Given the description of an element on the screen output the (x, y) to click on. 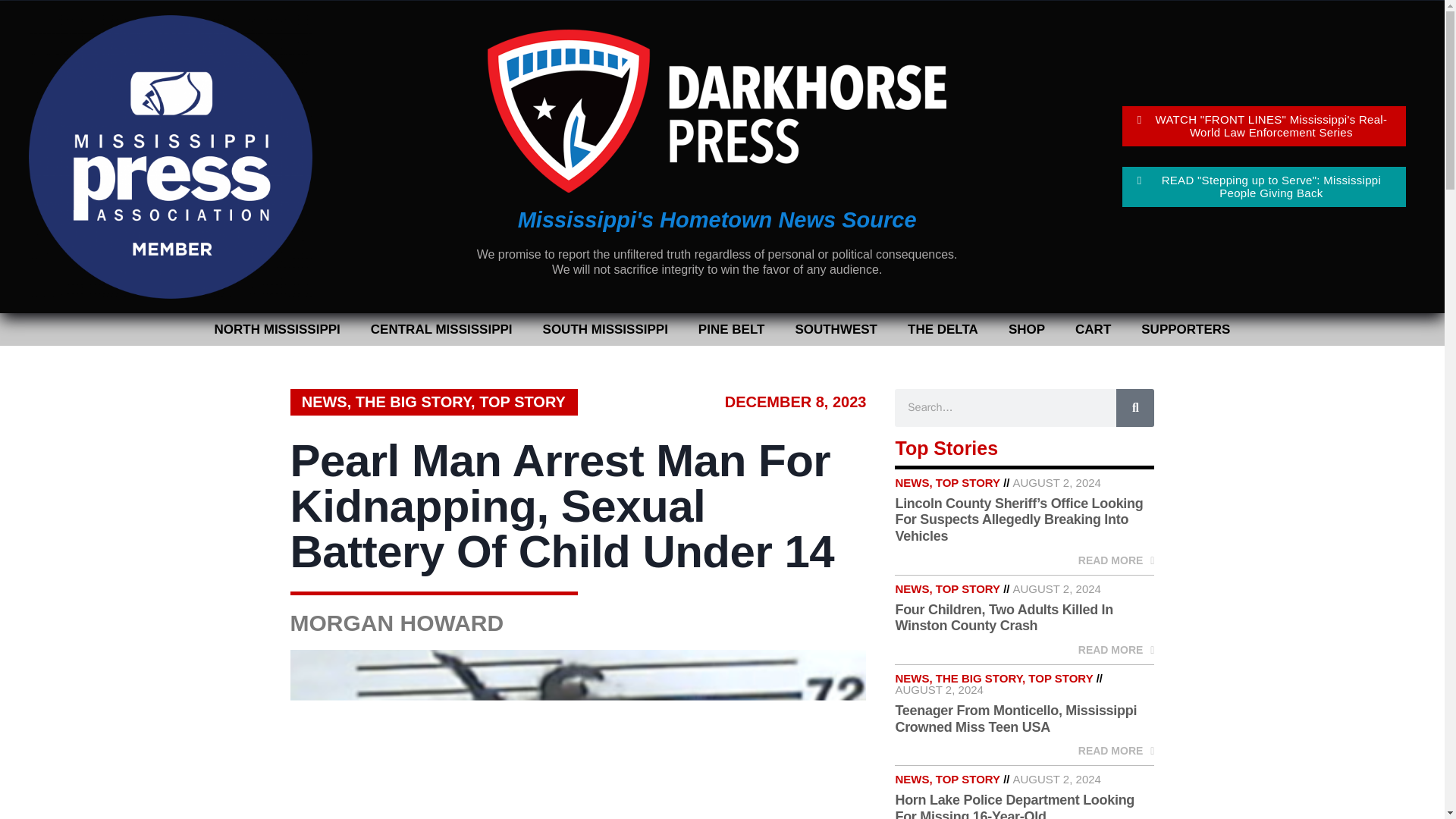
NORTH MISSISSIPPI (277, 328)
THE BIG STORY (412, 401)
CENTRAL MISSISSIPPI (441, 328)
PINE BELT (731, 328)
SOUTH MISSISSIPPI (604, 328)
READ "Stepping up to Serve": Mississippi People Giving Back (1264, 187)
SUPPORTERS (1184, 328)
NEWS (324, 401)
SHOP (1025, 328)
TOP STORY (522, 401)
SOUTHWEST (835, 328)
THE DELTA (942, 328)
CART (1092, 328)
